Given the description of an element on the screen output the (x, y) to click on. 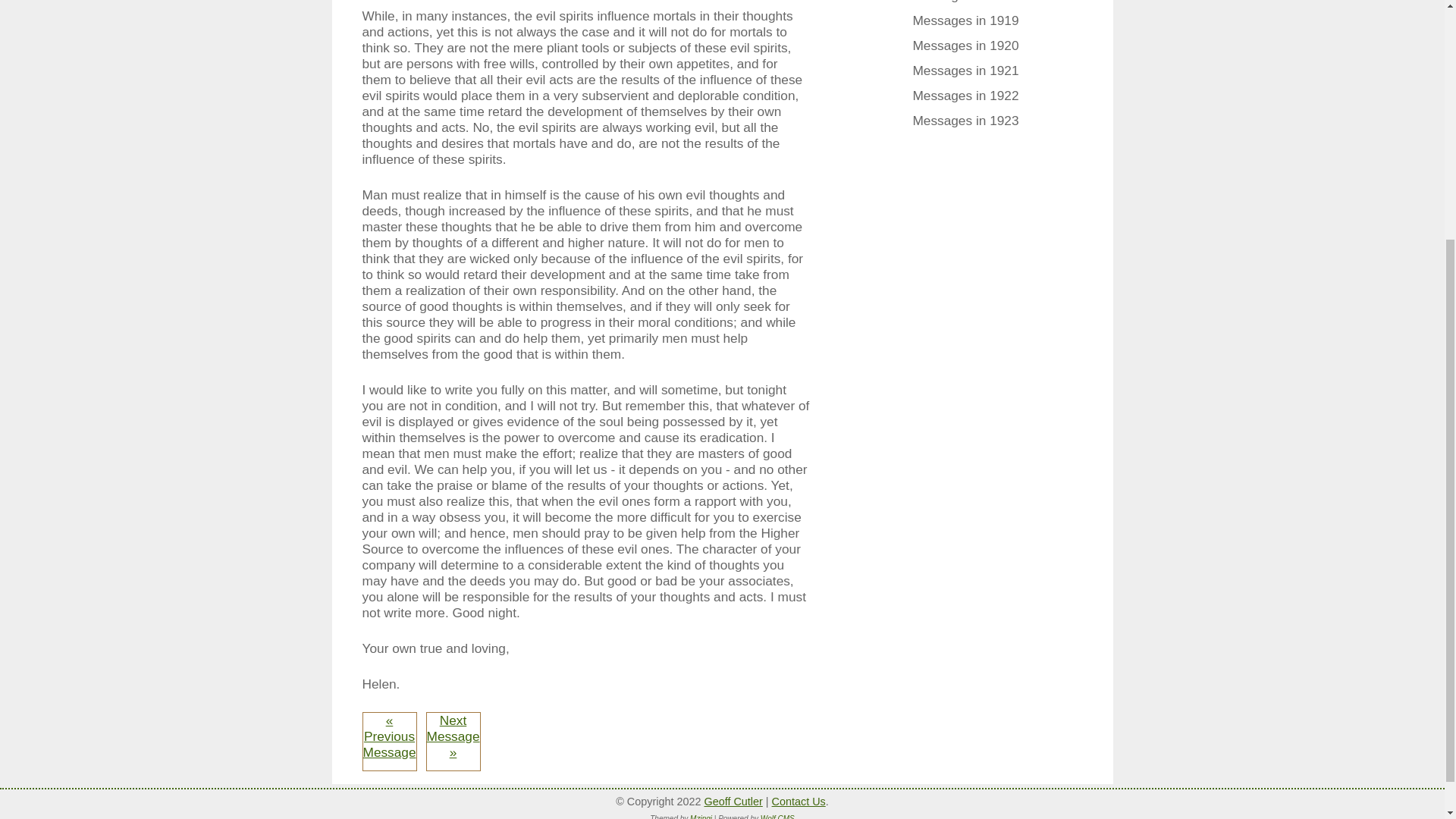
Wolf (732, 801)
Messages in 1923 (972, 122)
Contact Us: (798, 801)
Messages in 1918 (972, 3)
Messages in 1921 (972, 72)
Messages in 1920 (972, 47)
Messages in 1919 (972, 22)
Messages in 1922 (972, 97)
Contact Us (798, 801)
Geoff Cutler (732, 801)
